Given the description of an element on the screen output the (x, y) to click on. 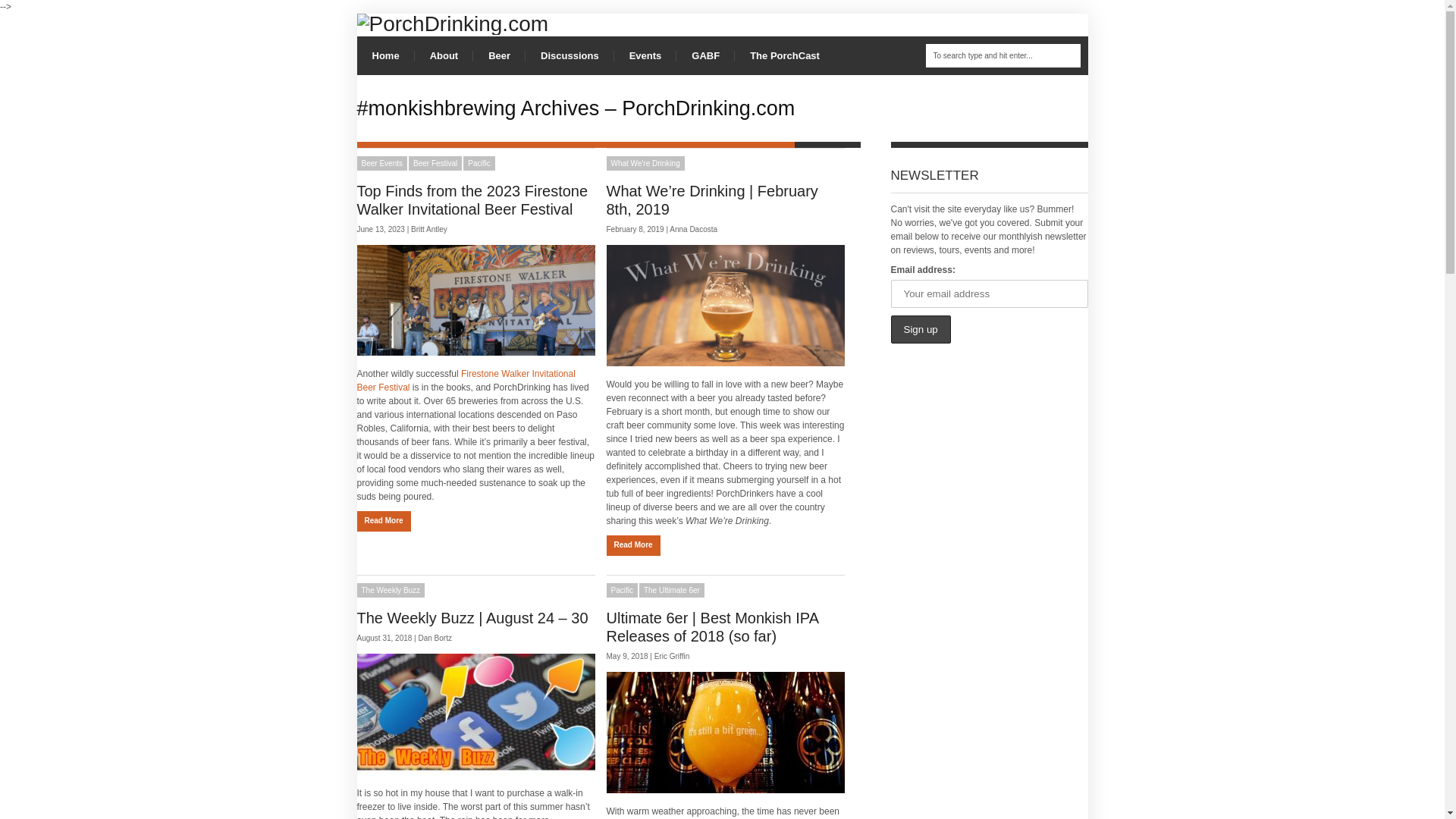
Events (645, 55)
Posts by Dan Bortz (435, 637)
About (444, 55)
Discussions (569, 55)
The PorchCast (784, 55)
Beer (499, 55)
Posts by Eric Griffin (671, 655)
Posts by Anna Dacosta (693, 229)
Sign up (919, 329)
Home (384, 55)
GABF (706, 55)
To search type and hit enter... (1002, 55)
Posts by Britt Antley (428, 229)
